Given the description of an element on the screen output the (x, y) to click on. 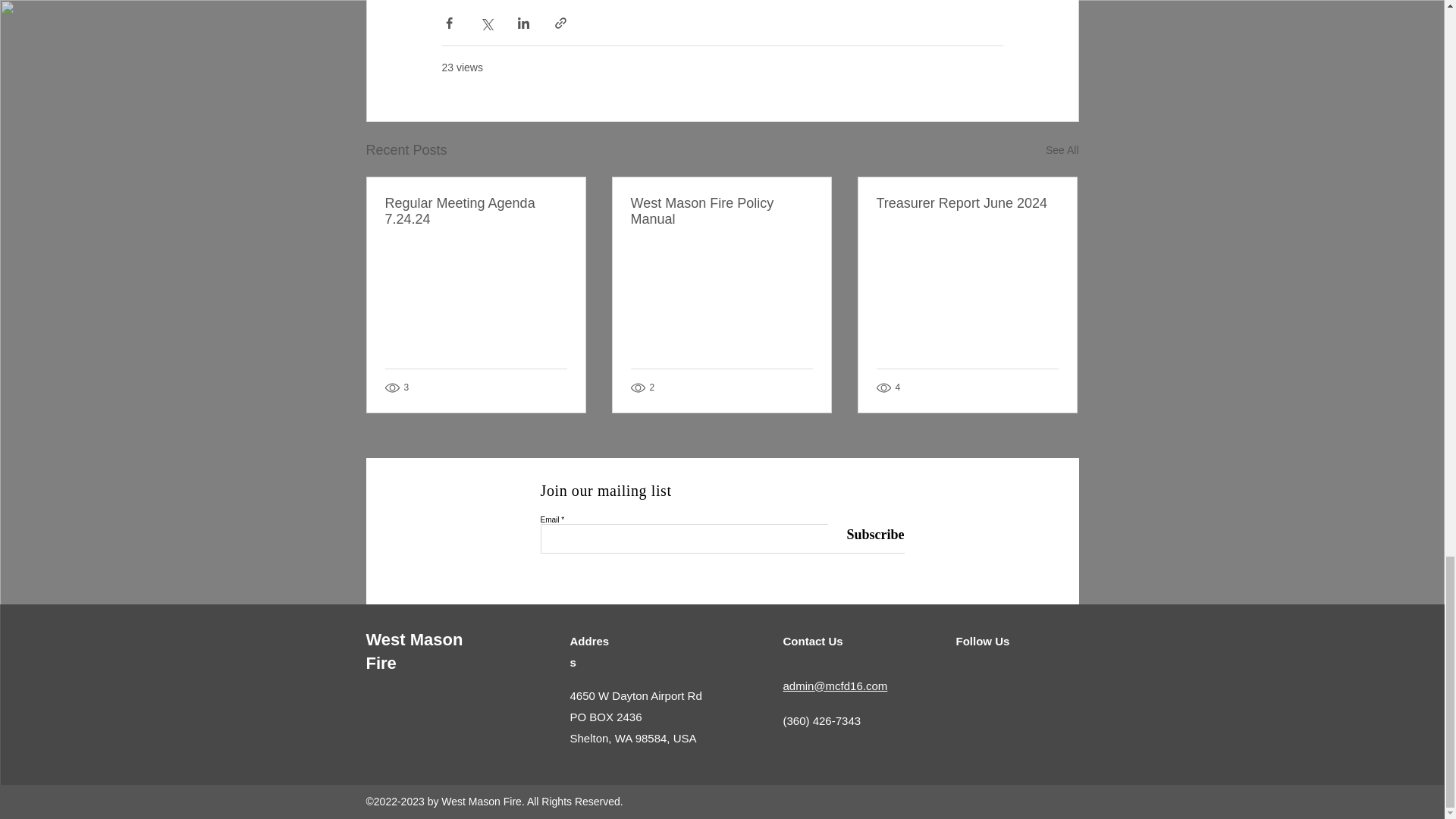
West Mason Fire (414, 650)
West Mason Fire Policy Manual (721, 211)
See All (1061, 150)
Subscribe (866, 534)
Treasurer Report June 2024 (967, 203)
Regular Meeting Agenda 7.24.24 (476, 211)
